Given the description of an element on the screen output the (x, y) to click on. 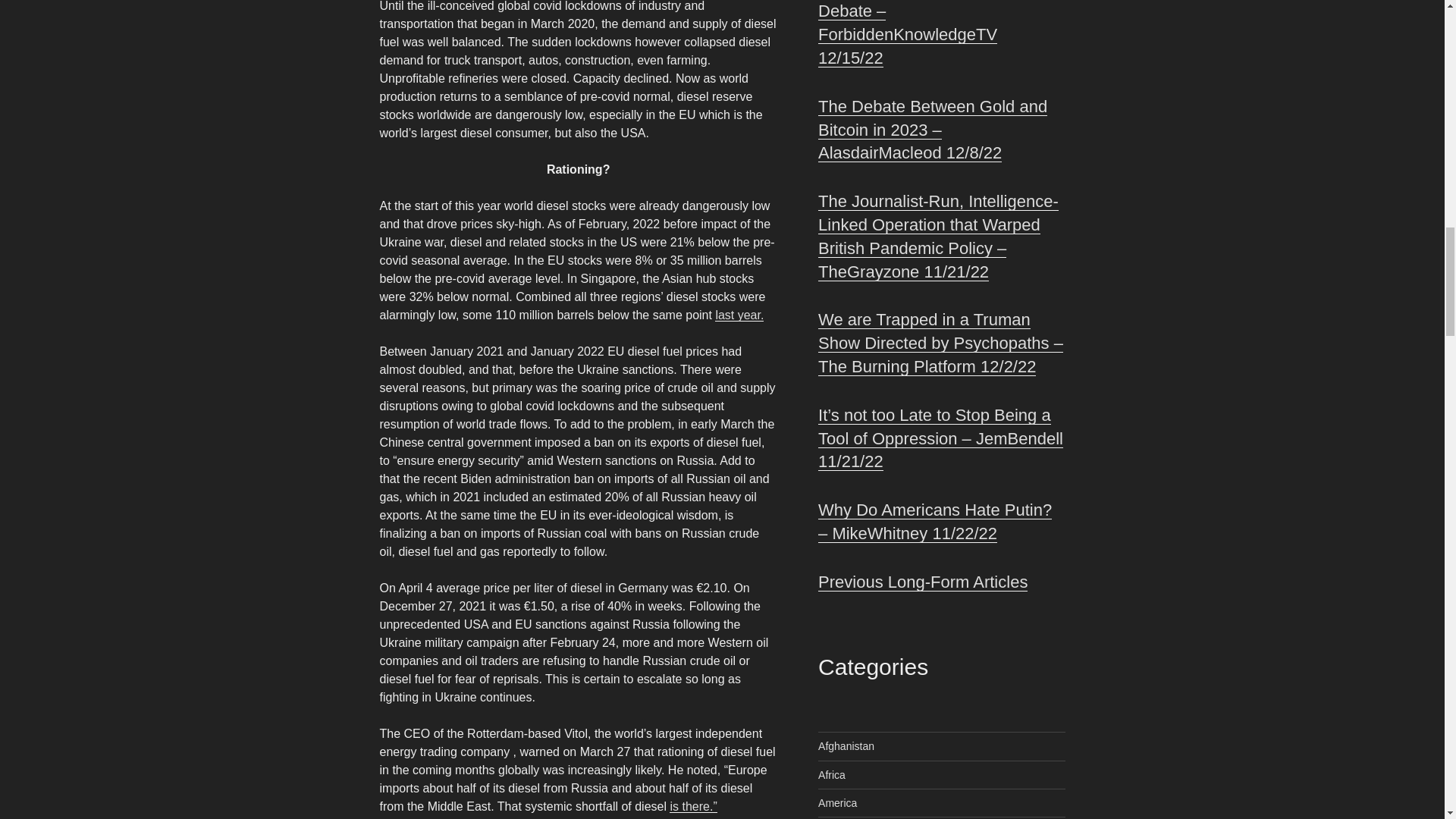
Previous Long-Form Articles (922, 581)
Afghanistan (846, 746)
last year. (738, 314)
Africa (831, 775)
